Given the description of an element on the screen output the (x, y) to click on. 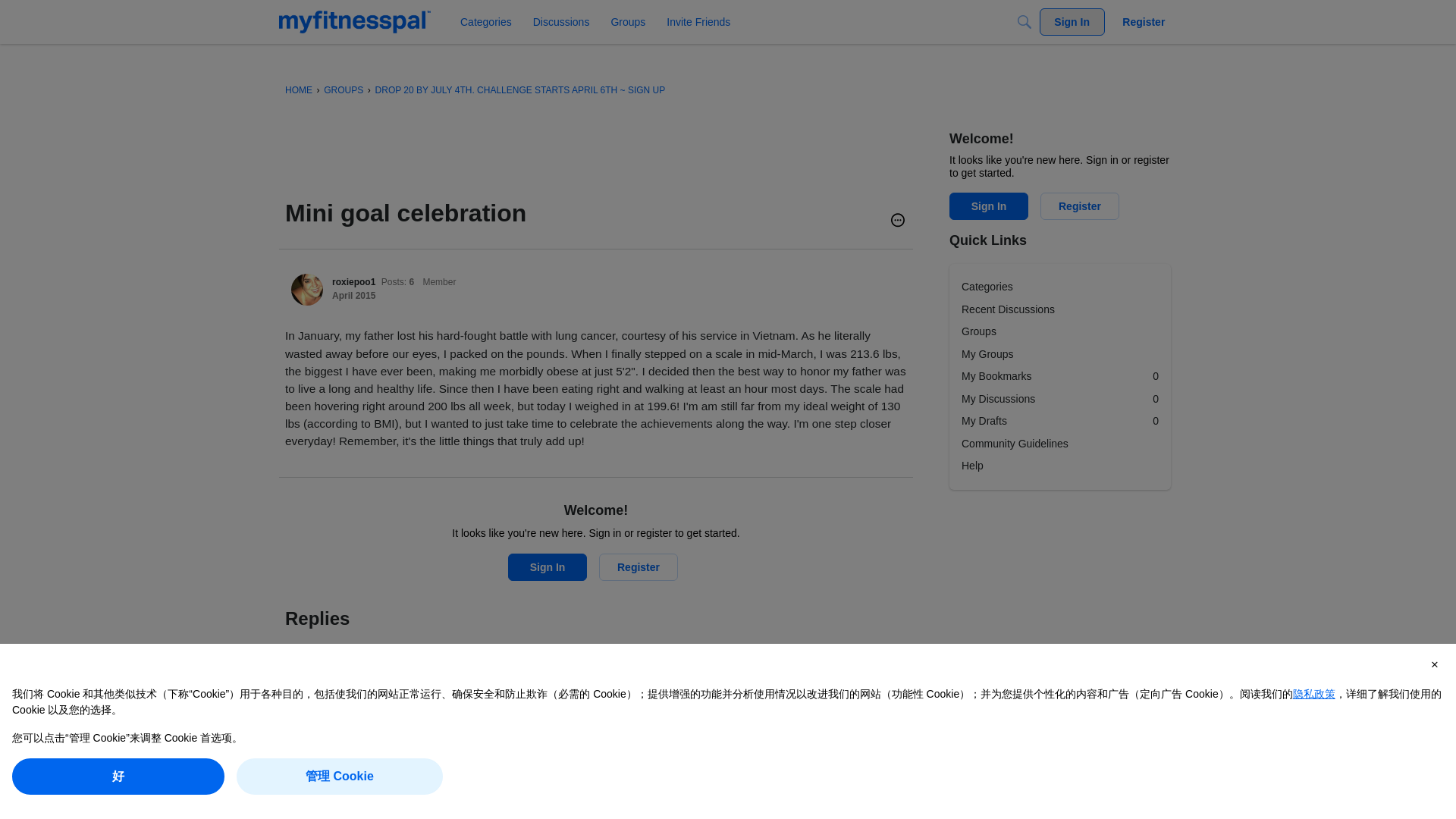
Groups (627, 22)
Invite Friends (698, 22)
Discussions (561, 22)
Search (1024, 22)
3rd party ad content (561, 164)
GROUPS (342, 90)
April 2015 (359, 714)
Member (447, 698)
Sign In (547, 566)
April 9, 2015 3:08PM (353, 295)
